Given the description of an element on the screen output the (x, y) to click on. 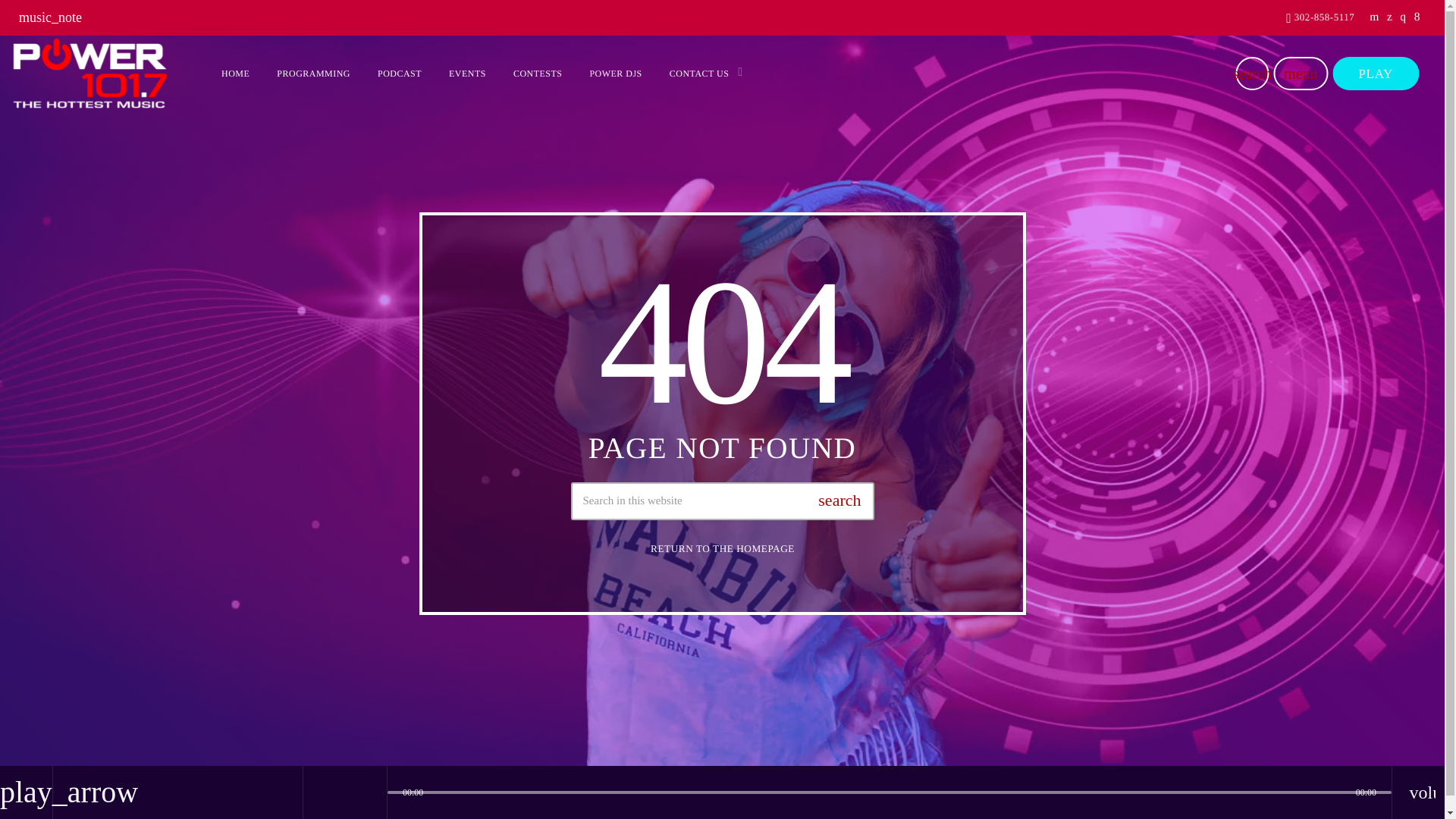
search (1251, 73)
PODCAST (399, 73)
PLAY (1375, 73)
menu (1299, 73)
302-858-5117 (1320, 17)
CONTESTS (537, 73)
CONTACT US (700, 73)
EVENTS (467, 73)
PROGRAMMING (313, 73)
POWER DJS (615, 73)
